Given the description of an element on the screen output the (x, y) to click on. 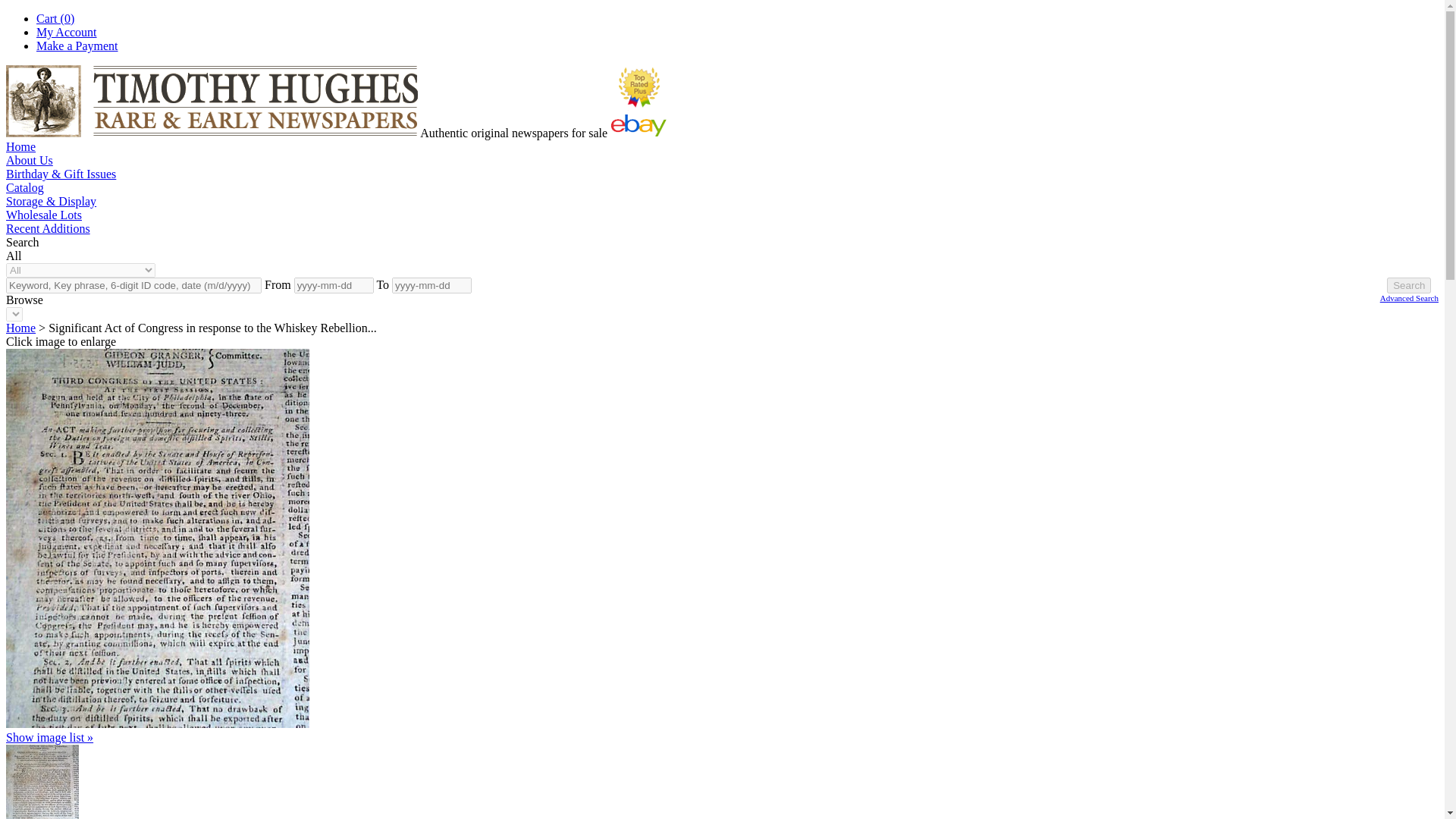
Recent Additions (47, 228)
Home (19, 146)
About Us (28, 160)
Wholesale Lots (43, 214)
Home (19, 327)
Catalog (24, 187)
My Account (66, 31)
Make a Payment (76, 45)
Search (1409, 285)
Home (19, 327)
Search (1409, 285)
